Given the description of an element on the screen output the (x, y) to click on. 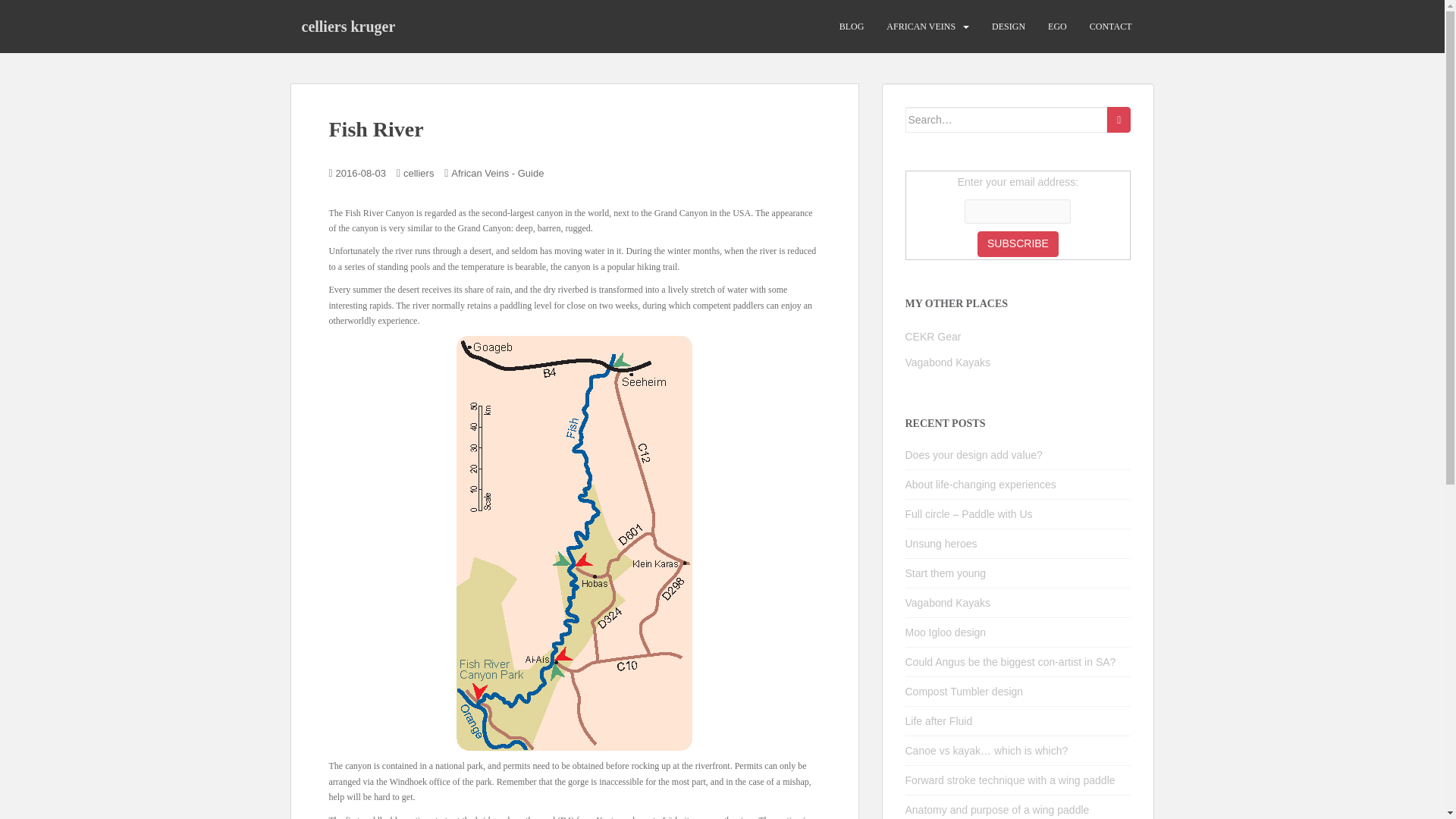
AFRICAN VEINS (920, 26)
Anatomy and purpose of a wing paddle (997, 809)
Does your design add value? (973, 454)
Compost Tumbler design (964, 691)
CEKR Gear (932, 336)
DESIGN (1008, 26)
Forward stroke technique with a wing paddle (1010, 779)
celliers (418, 173)
2016-08-03 (361, 173)
celliers kruger (347, 26)
